Given the description of an element on the screen output the (x, y) to click on. 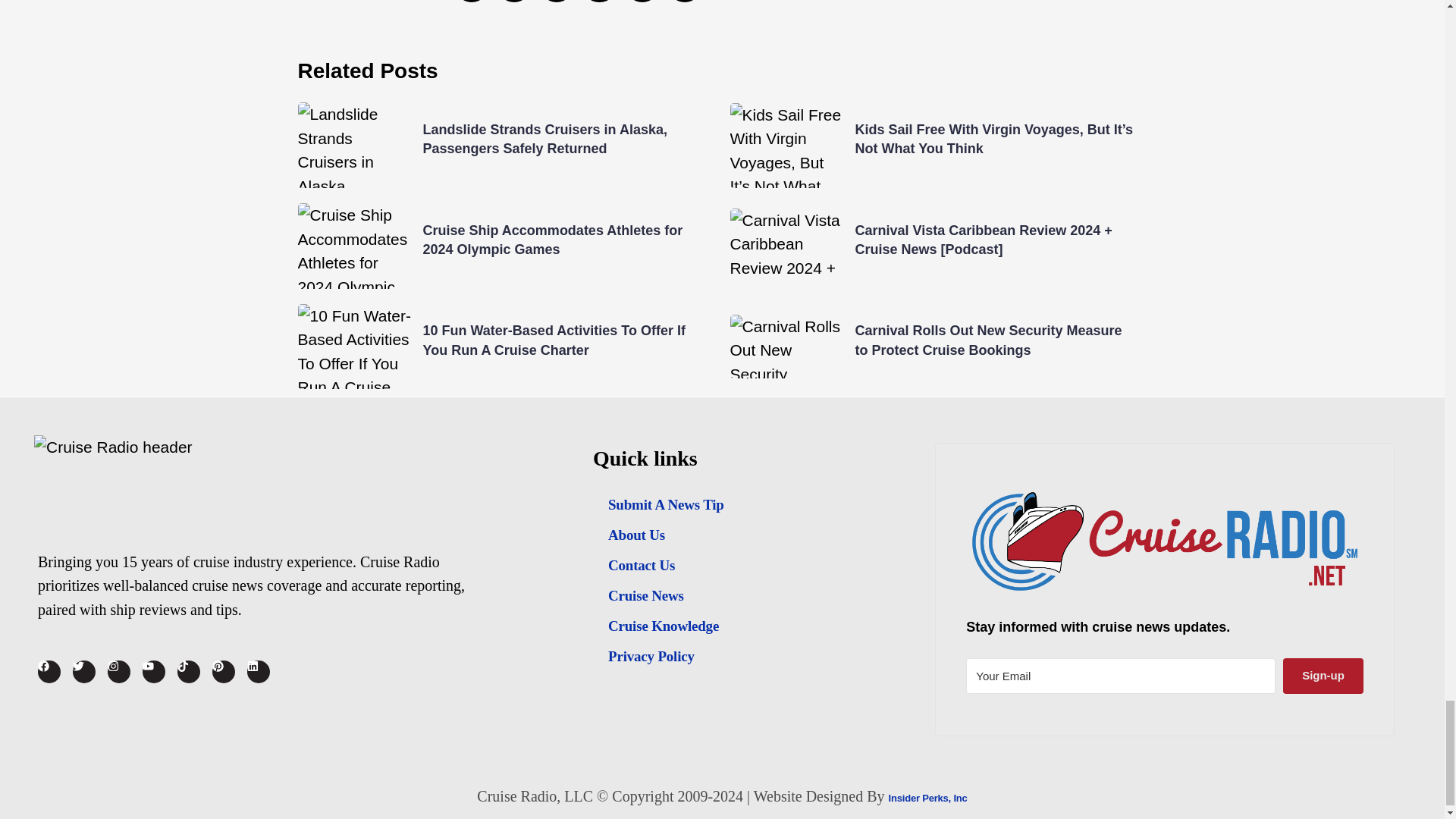
Cruise Ship Accommodates Athletes for 2024 Olympic Games (552, 239)
